Given the description of an element on the screen output the (x, y) to click on. 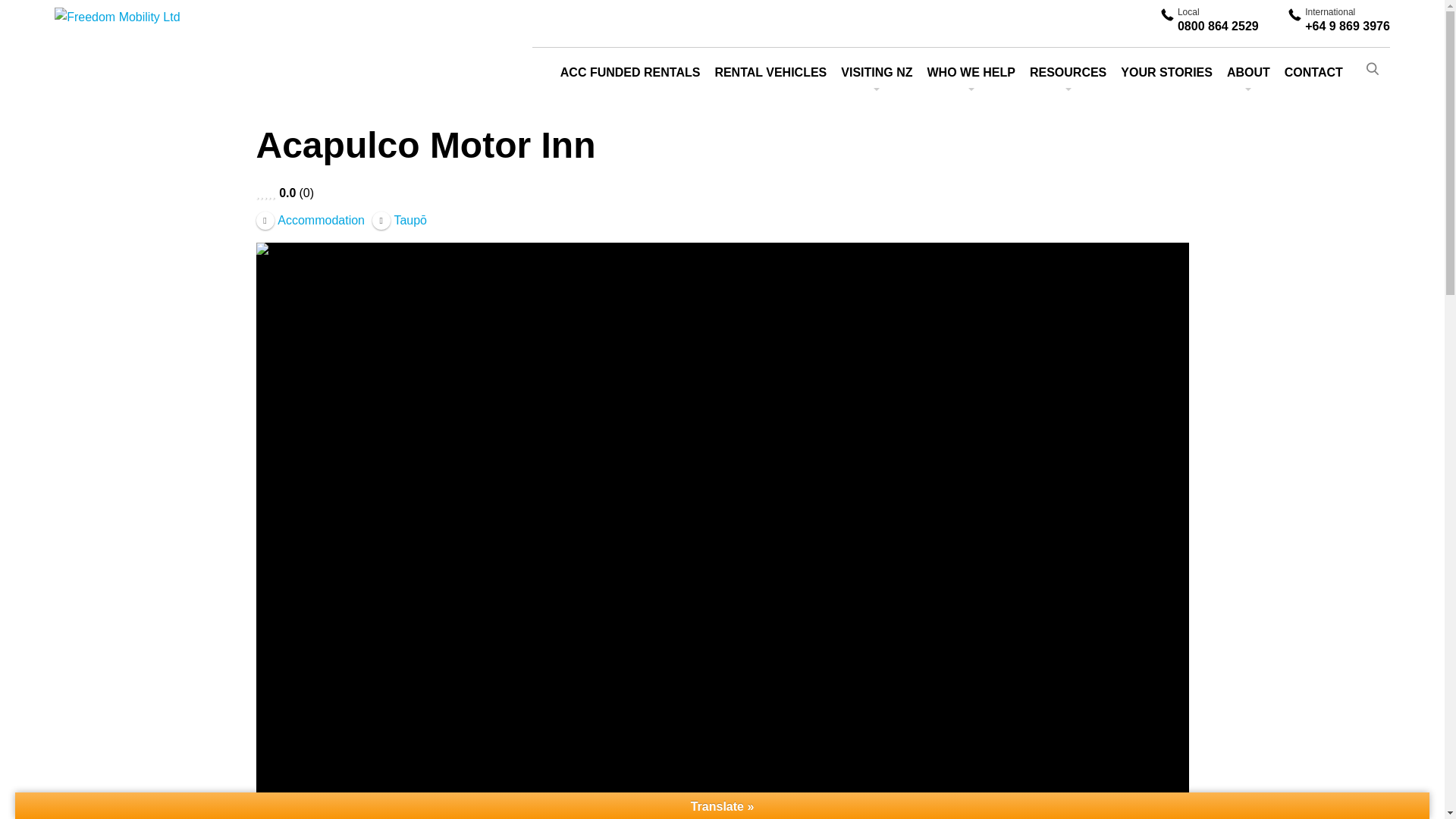
Freedom Mobility Ltd - enjoying life being mobile  (160, 35)
ABOUT (1248, 72)
Contact Freedom Mobility (1312, 72)
Rentals (970, 72)
Call us on 0800 864 2529 within New Zealand (1218, 21)
Our Fleet (770, 72)
WHO WE HELP (970, 72)
ACC FUNDED RENTALS (630, 72)
VISITING NZ (877, 72)
RESOURCES (1067, 72)
CONTACT (1312, 72)
Visiting New Zealand (877, 72)
Resources (1218, 21)
RENTAL VEHICLES (1067, 72)
